Given the description of an element on the screen output the (x, y) to click on. 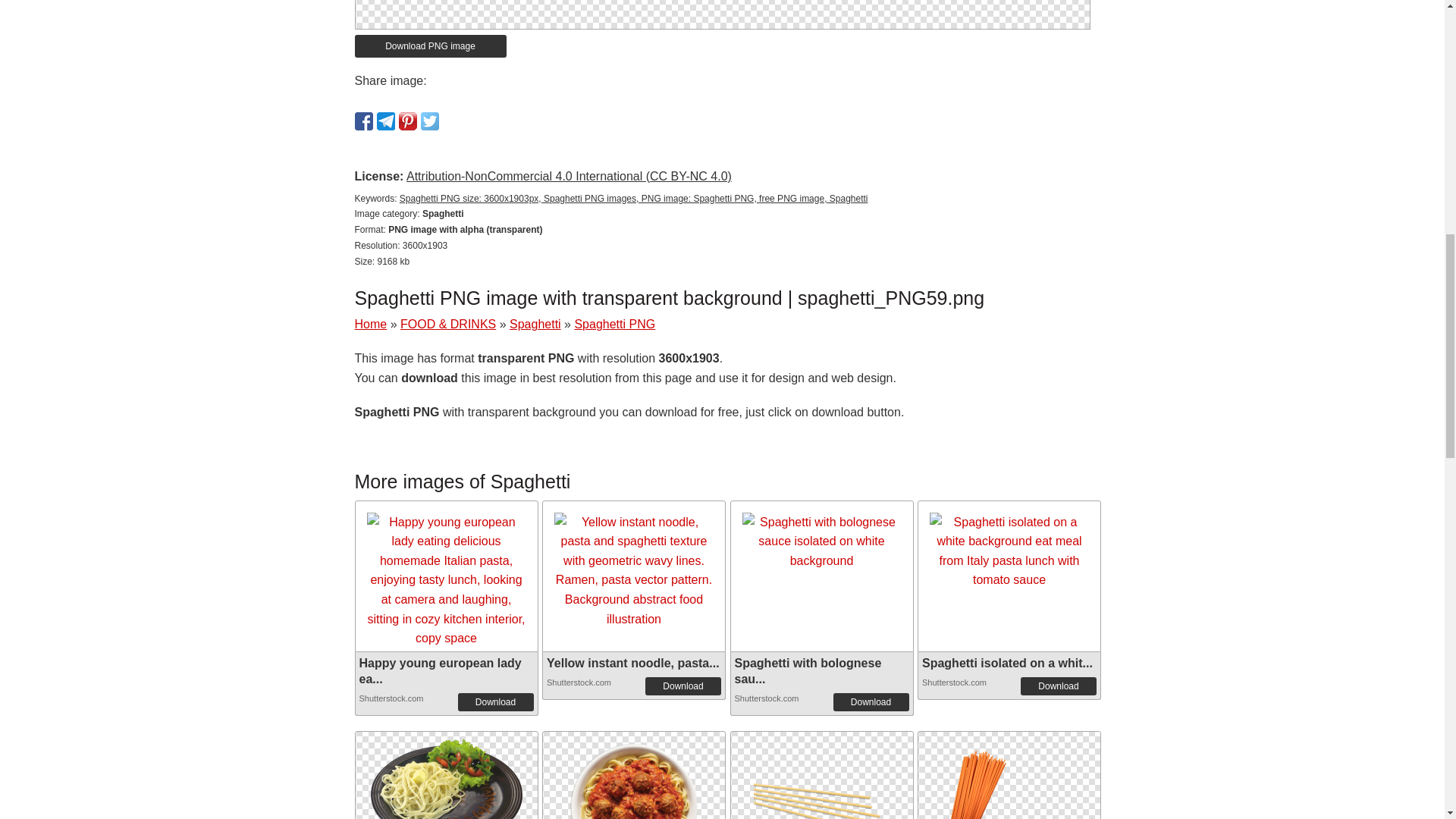
Download (1058, 686)
Happy young european lady ea... (440, 670)
Pin (407, 121)
Spaghetti PNG (445, 787)
Download PNG image (430, 46)
Spaghetti isolated on a whit... (1007, 662)
Spaghetti PNG (821, 802)
Home (371, 323)
Spaghetti with bolognese sauce isolated on white background (821, 541)
Spaghetti (534, 323)
Share in Facebook (363, 121)
Spaghetti PNG (614, 323)
Share in Telegram (384, 121)
